Given the description of an element on the screen output the (x, y) to click on. 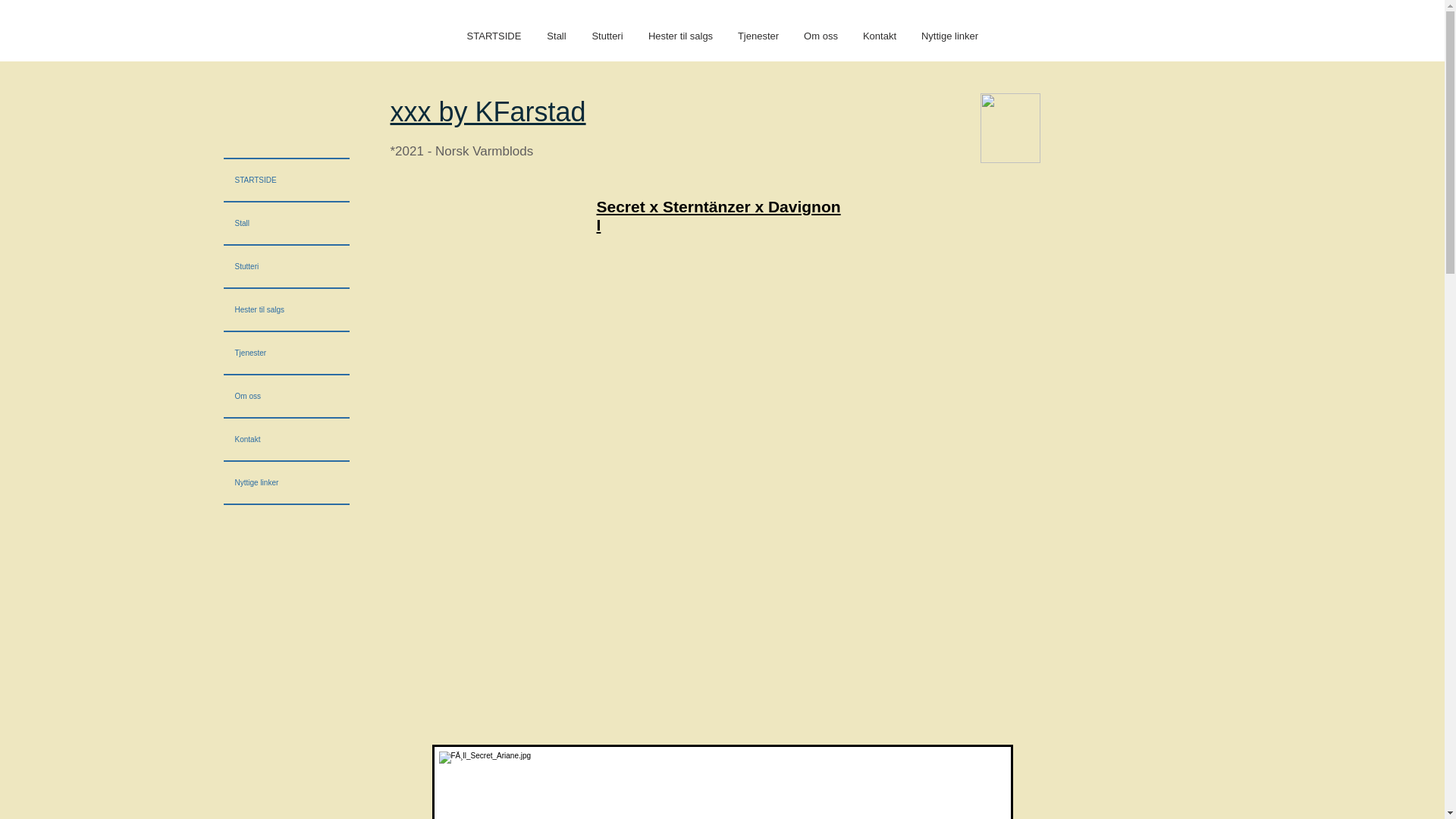
Stall (556, 36)
Hester til salgs (681, 36)
Nyttige linker (949, 36)
Stall (285, 223)
STARTSIDE (494, 36)
Stutteri (285, 266)
Om oss (819, 36)
Kontakt (878, 36)
STARTSIDE (285, 179)
Stutteri (606, 36)
